Given the description of an element on the screen output the (x, y) to click on. 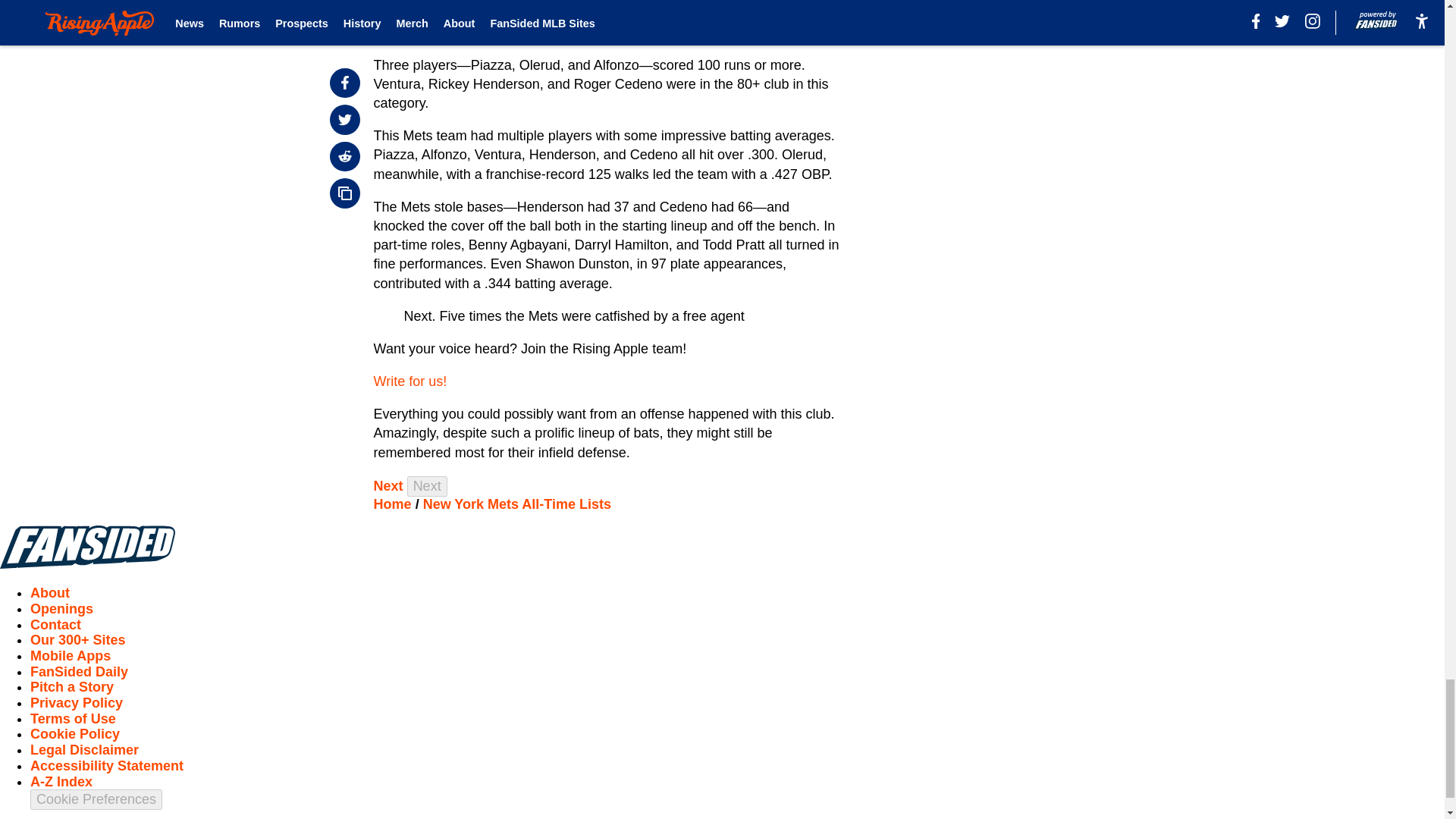
Home (393, 503)
Next (426, 485)
Write for us! (410, 381)
Next (388, 485)
